Given the description of an element on the screen output the (x, y) to click on. 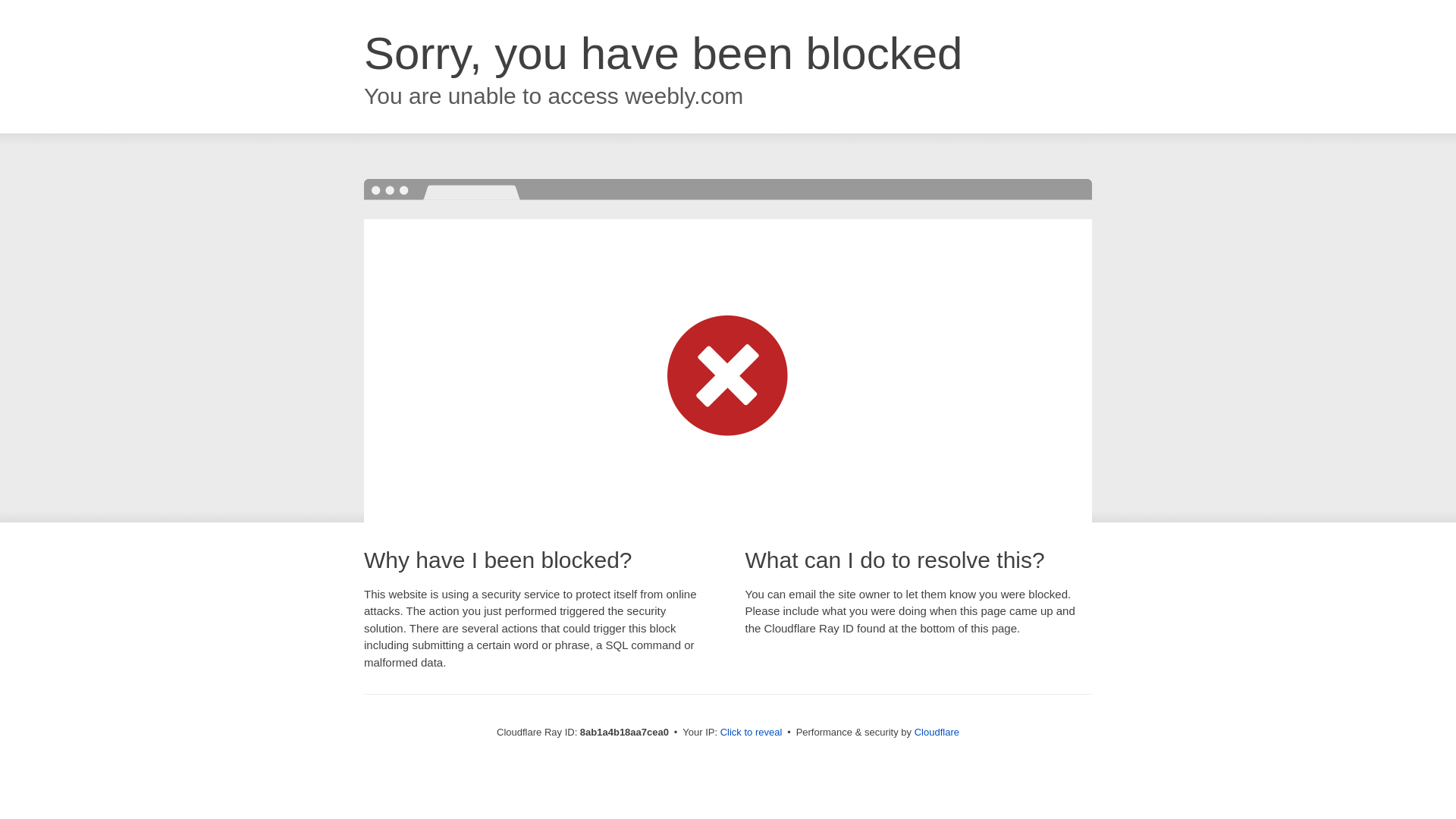
Cloudflare (936, 731)
Click to reveal (751, 732)
